Given the description of an element on the screen output the (x, y) to click on. 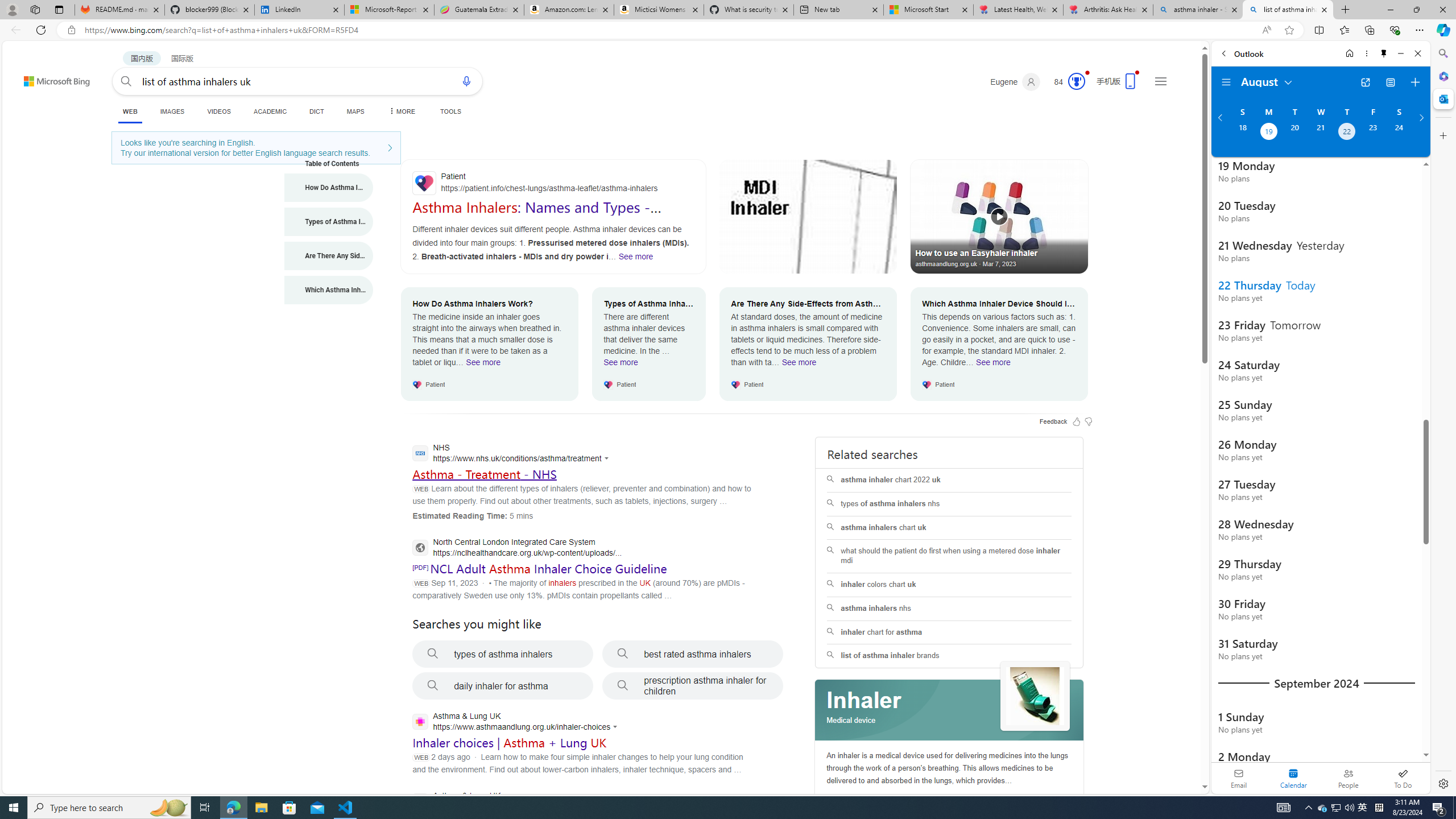
See more images of Inhaler (1035, 696)
daily inhaler for asthma (503, 685)
ACADEMIC (269, 111)
Asthma Inhalers: Names and Types - Patient (536, 214)
Folder navigation (1225, 82)
Unpin side pane (1383, 53)
Settings and quick links (1160, 80)
types of asthma inhalers (503, 653)
ACADEMIC (269, 111)
prescription asthma inhaler for children (692, 685)
asthma inhalers chart uk (949, 527)
